Given the description of an element on the screen output the (x, y) to click on. 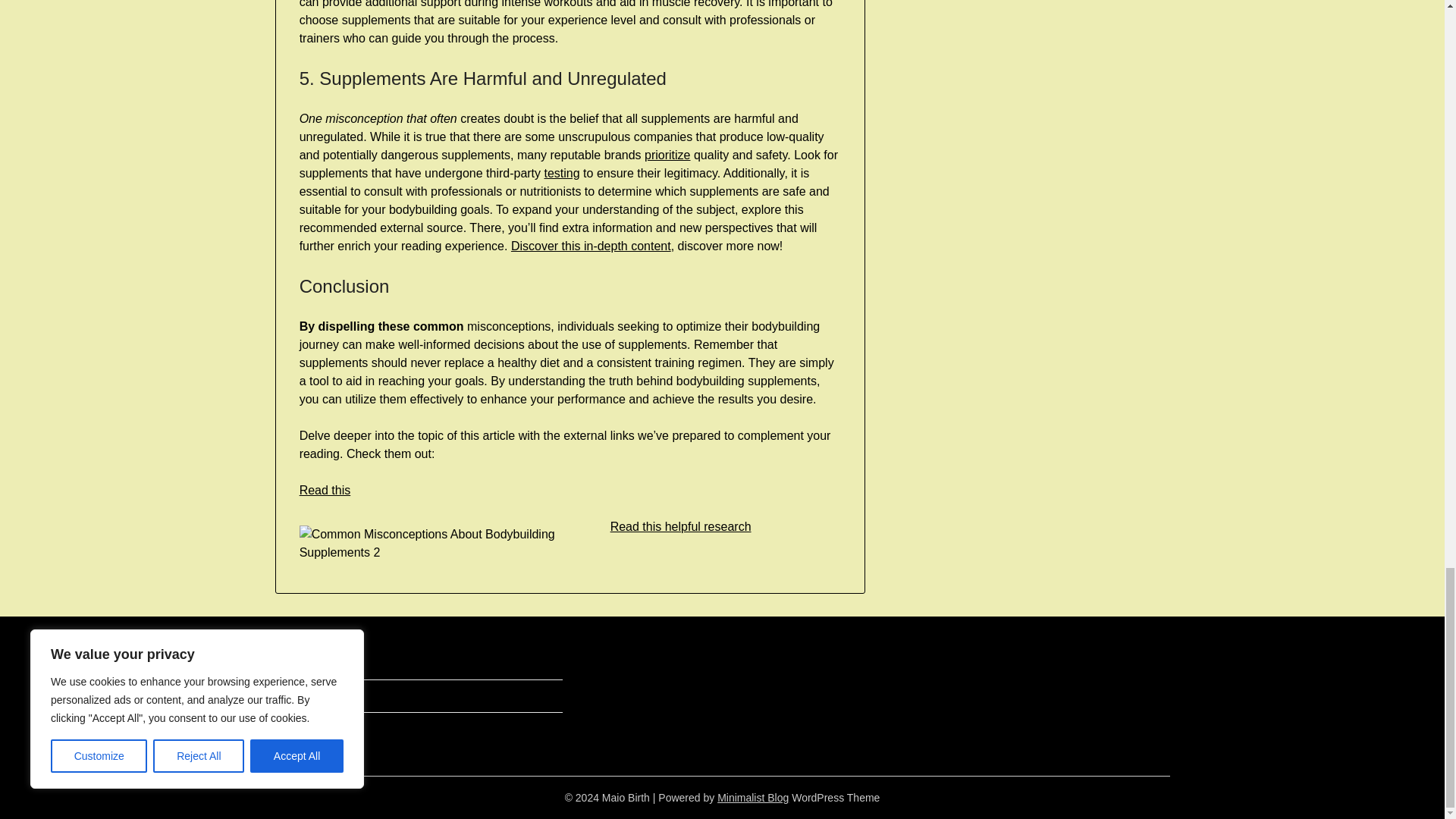
testing (561, 173)
Read this (324, 490)
Read this helpful research (680, 526)
prioritize (667, 154)
Discover this in-depth content (591, 245)
